Given the description of an element on the screen output the (x, y) to click on. 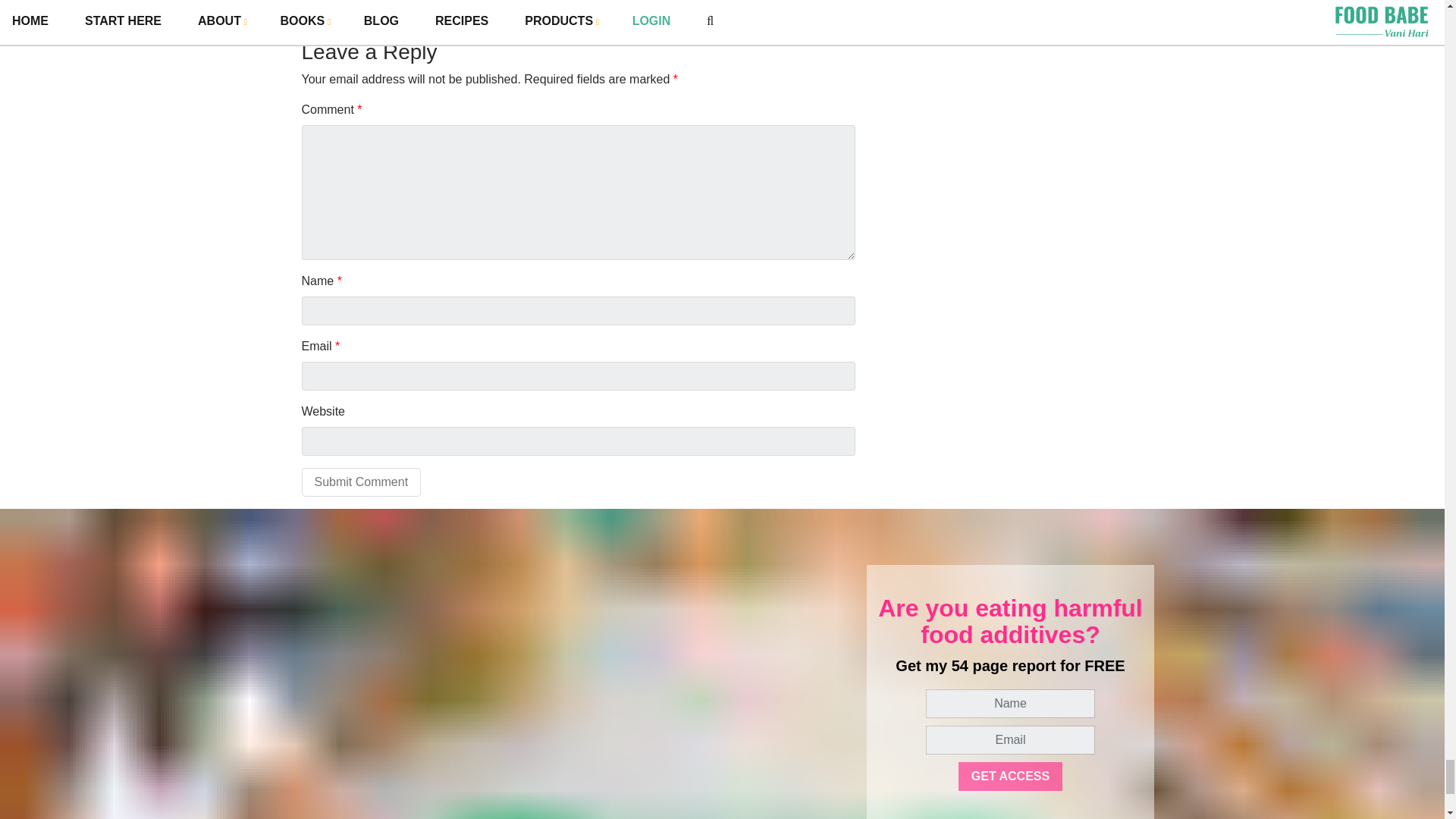
Submit Comment (361, 481)
